Given the description of an element on the screen output the (x, y) to click on. 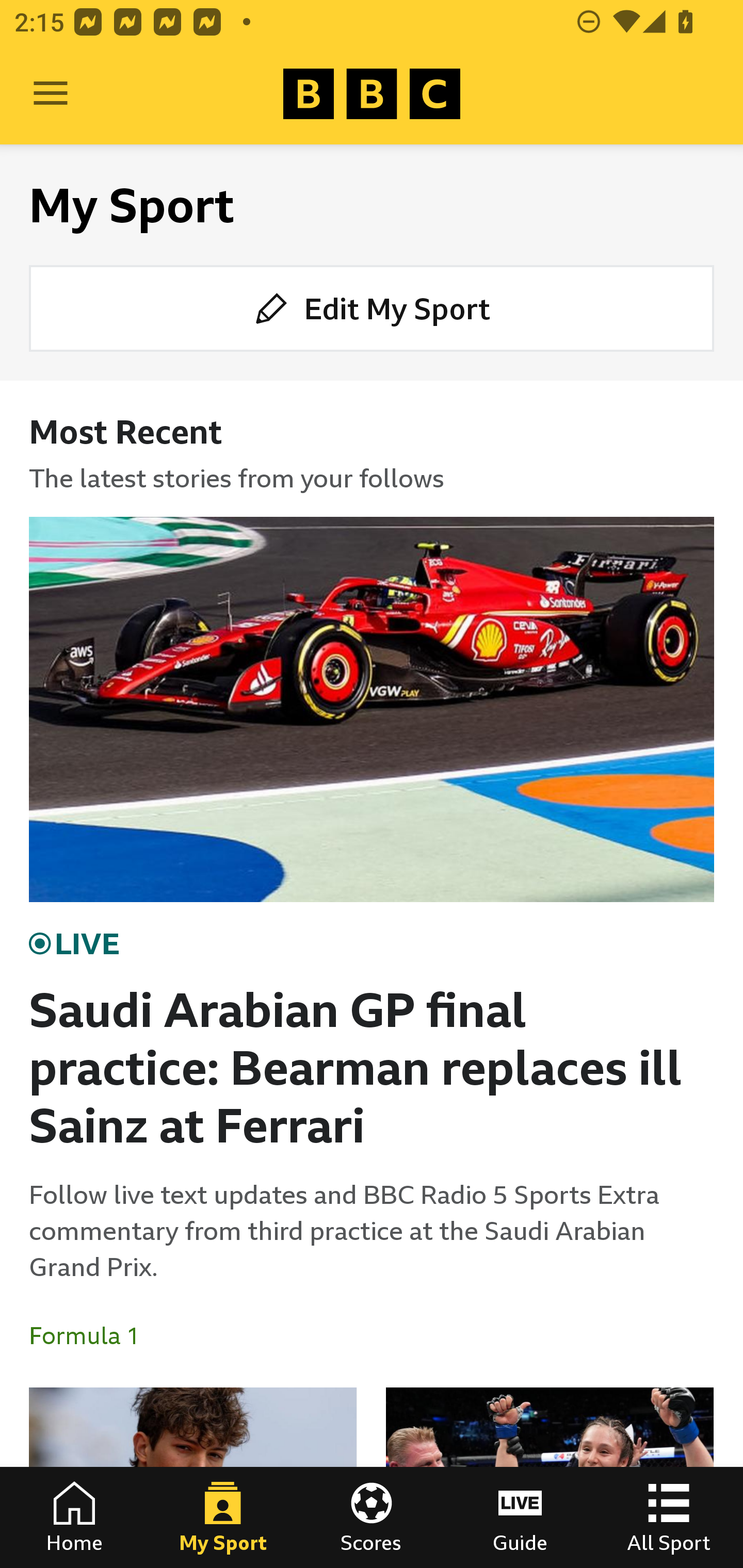
Open Menu (50, 93)
Edit My Sport (371, 307)
Home (74, 1517)
Scores (371, 1517)
Guide (519, 1517)
All Sport (668, 1517)
